Given the description of an element on the screen output the (x, y) to click on. 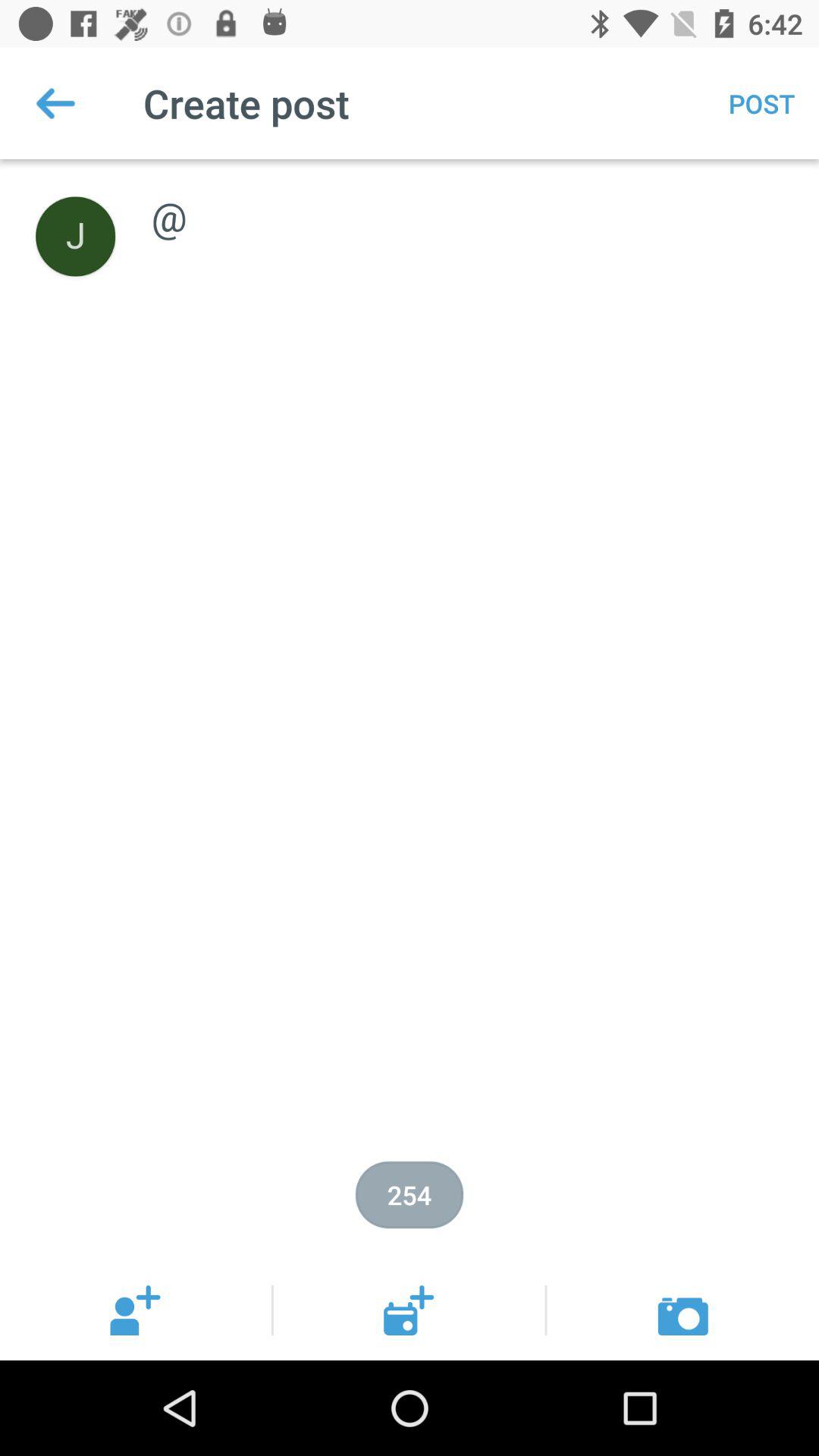
select the item below @ (409, 1194)
